Given the description of an element on the screen output the (x, y) to click on. 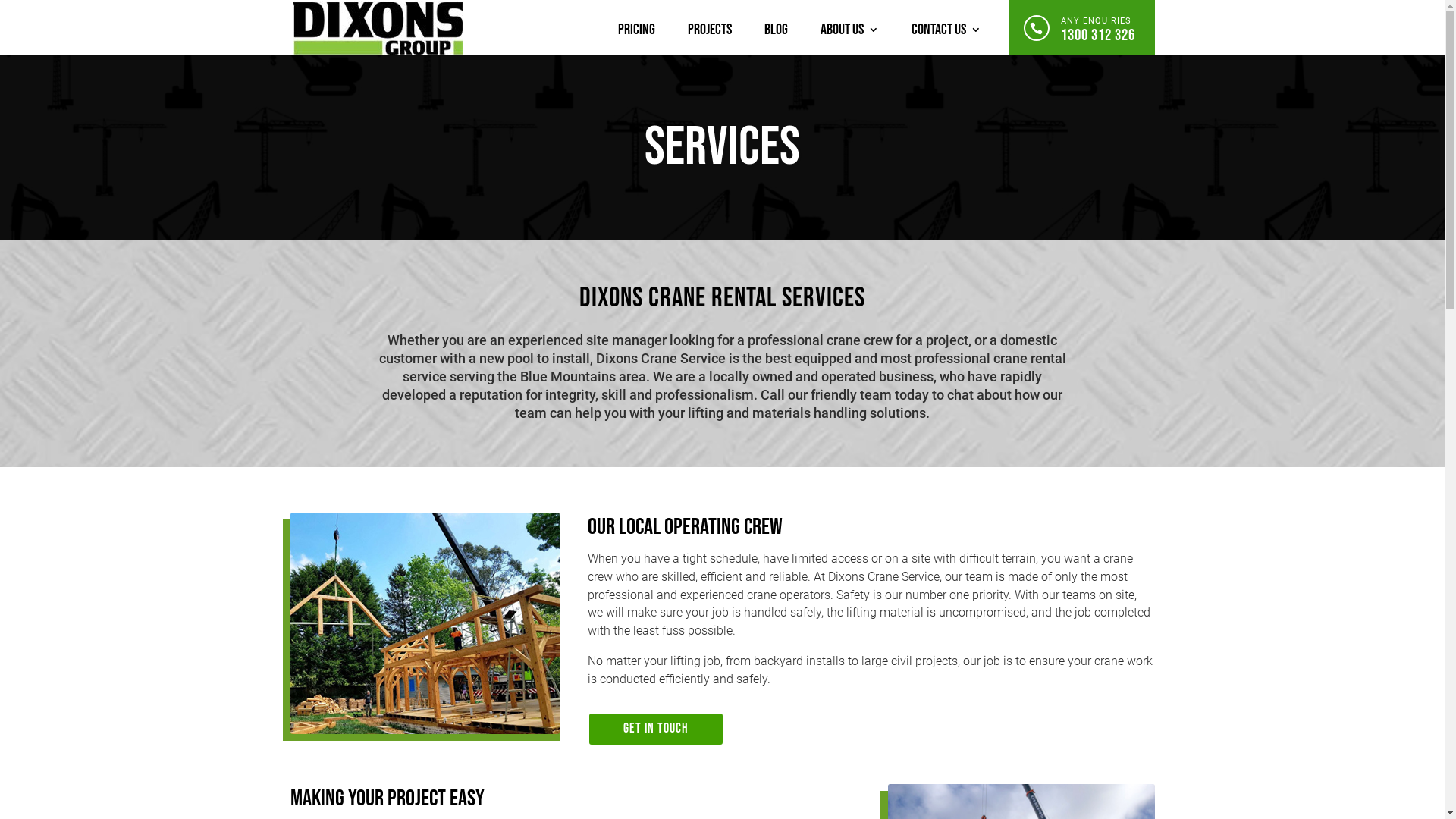
1300 312 326 Element type: text (1097, 34)
BLOG Element type: text (775, 36)
PROJECTS Element type: text (709, 36)
GET IN TOUCH Element type: text (655, 729)
PRICING Element type: text (635, 36)
ABOUT US Element type: text (849, 36)
CONTACT US Element type: text (946, 29)
